Given the description of an element on the screen output the (x, y) to click on. 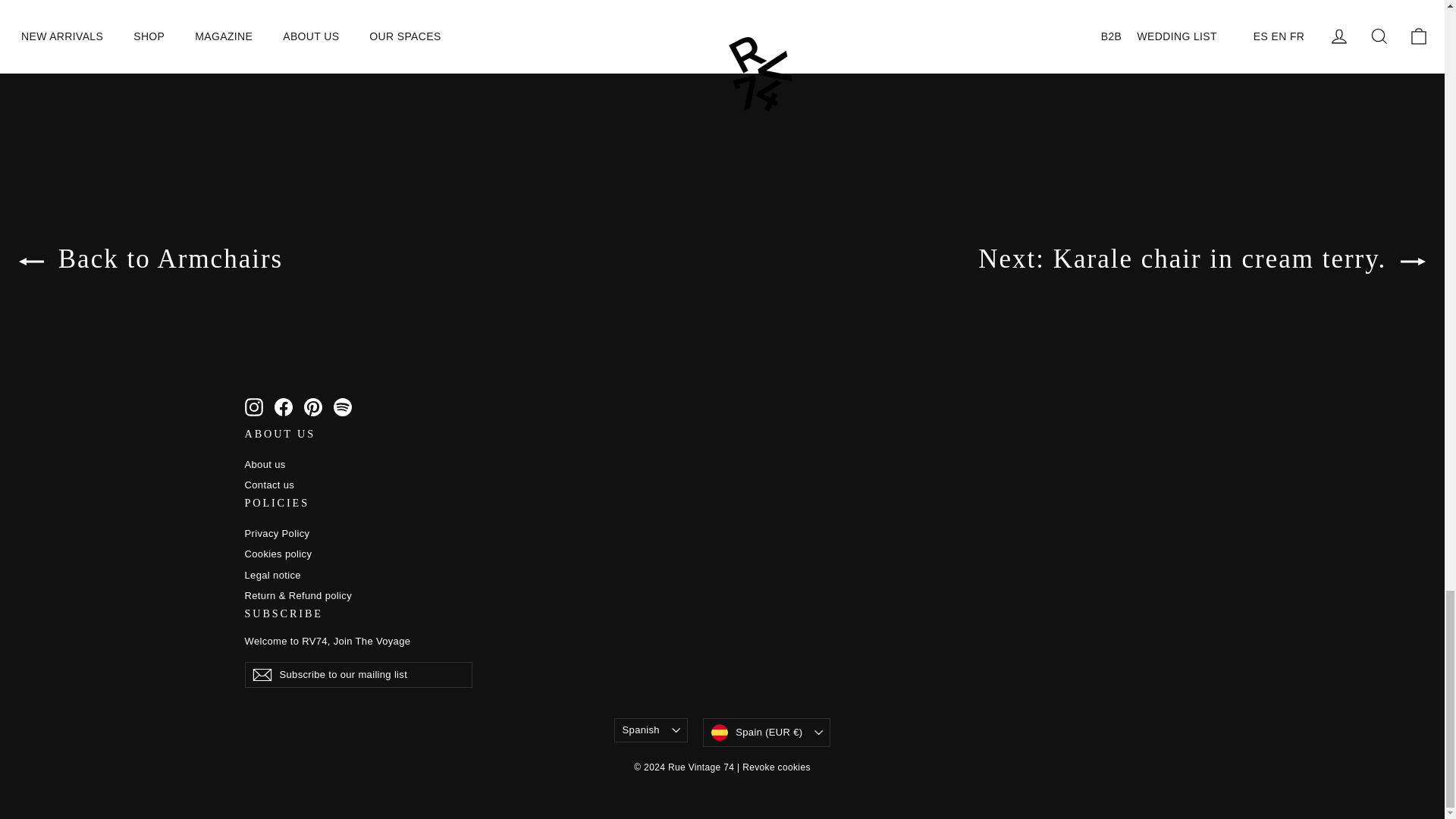
Instagram (253, 407)
icon email (260, 674)
Rue Vintage 74 on Pinterest (311, 407)
Rue Vintage 74 on Snapchat (342, 407)
Rue Vintage 74 on Instagram (253, 407)
Rue Vintage 74 on Facebook (283, 407)
